Given the description of an element on the screen output the (x, y) to click on. 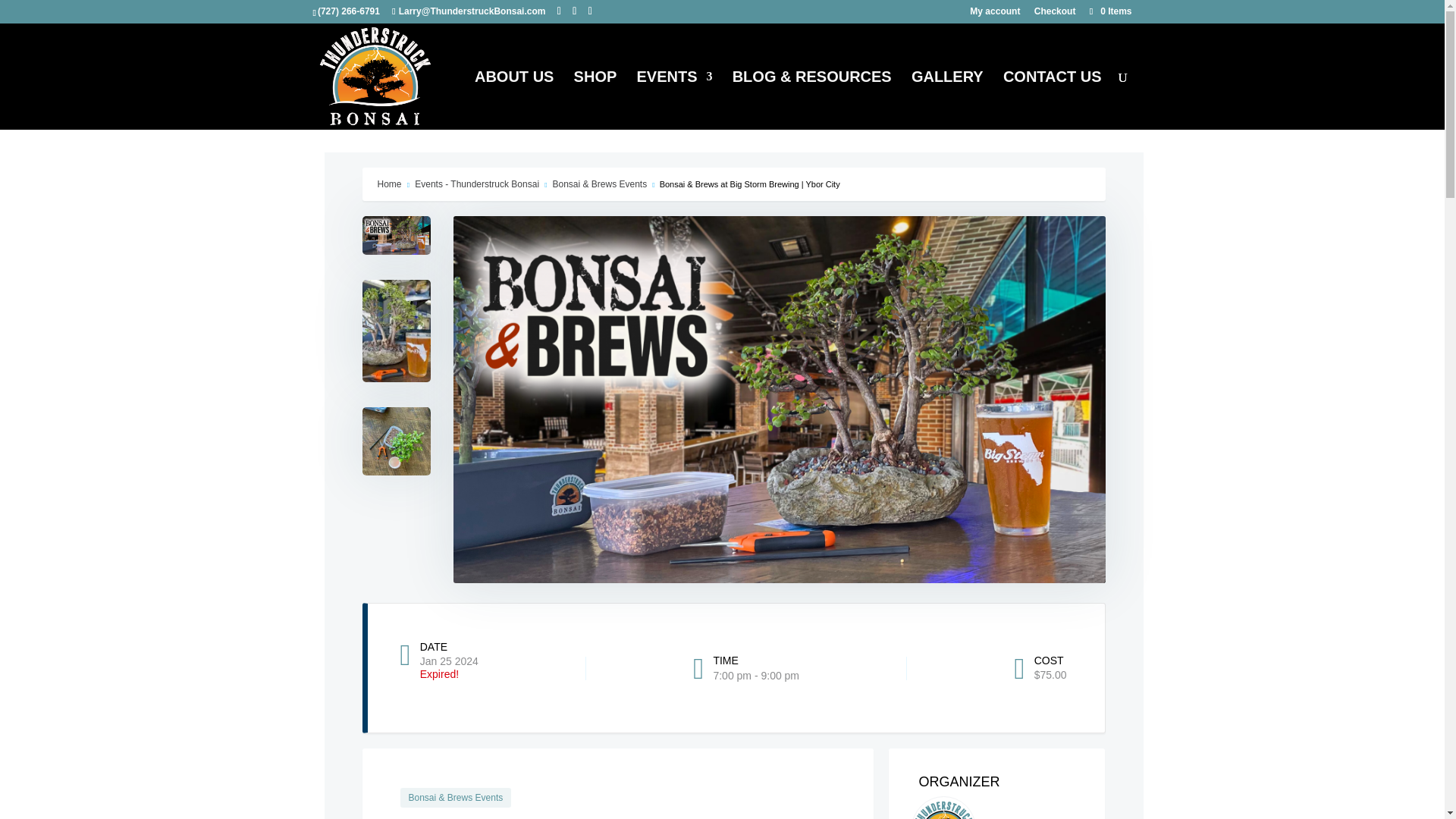
My account (994, 14)
CONTACT US (1052, 100)
0 Items (1108, 10)
GALLERY (947, 100)
Checkout (1054, 14)
EVENTS (673, 100)
ABOUT US (513, 100)
Home (389, 184)
Events - Thunderstruck Bonsai (475, 184)
